Given the description of an element on the screen output the (x, y) to click on. 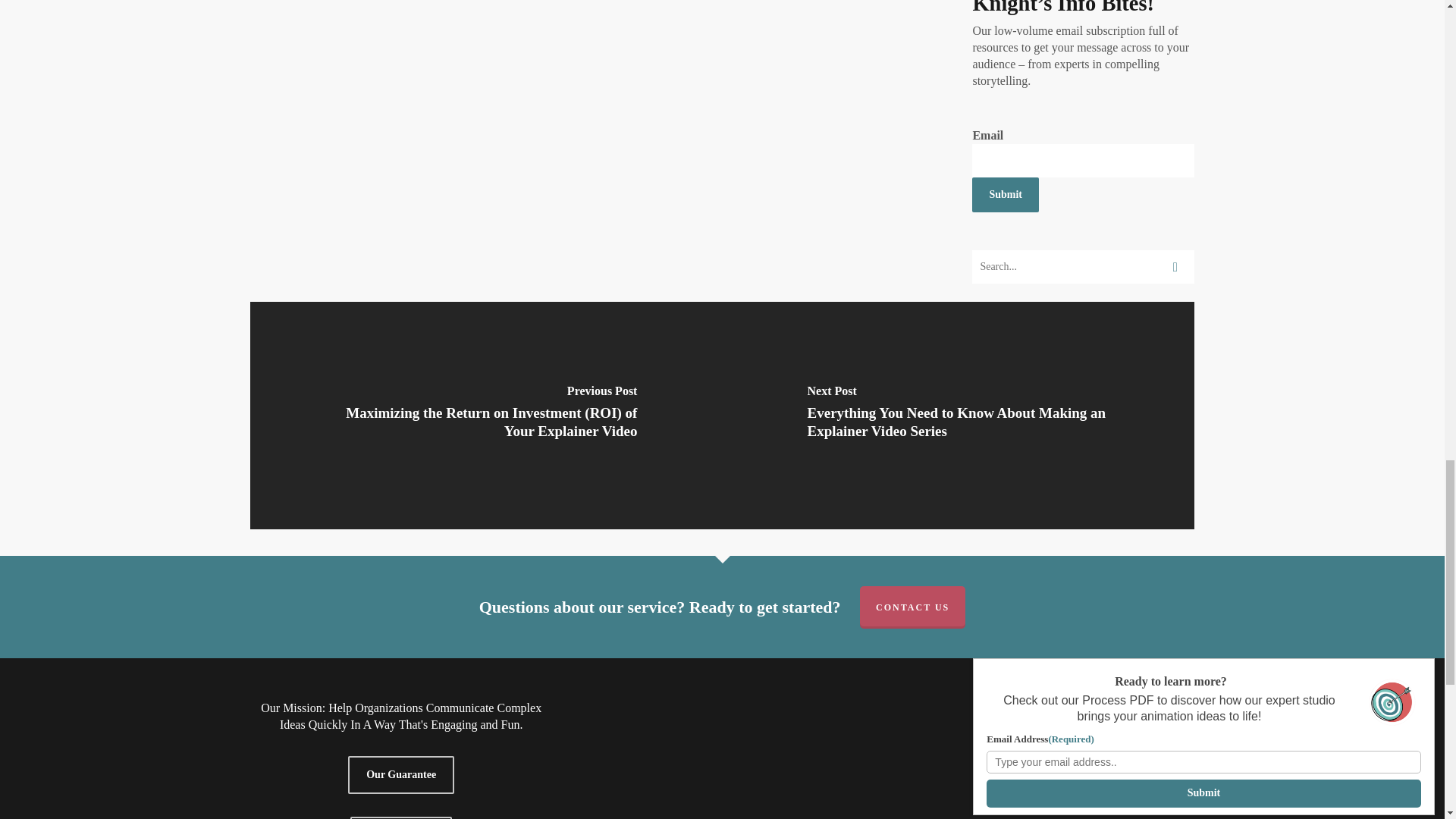
Submit (1005, 194)
Search for: (1082, 266)
